Given the description of an element on the screen output the (x, y) to click on. 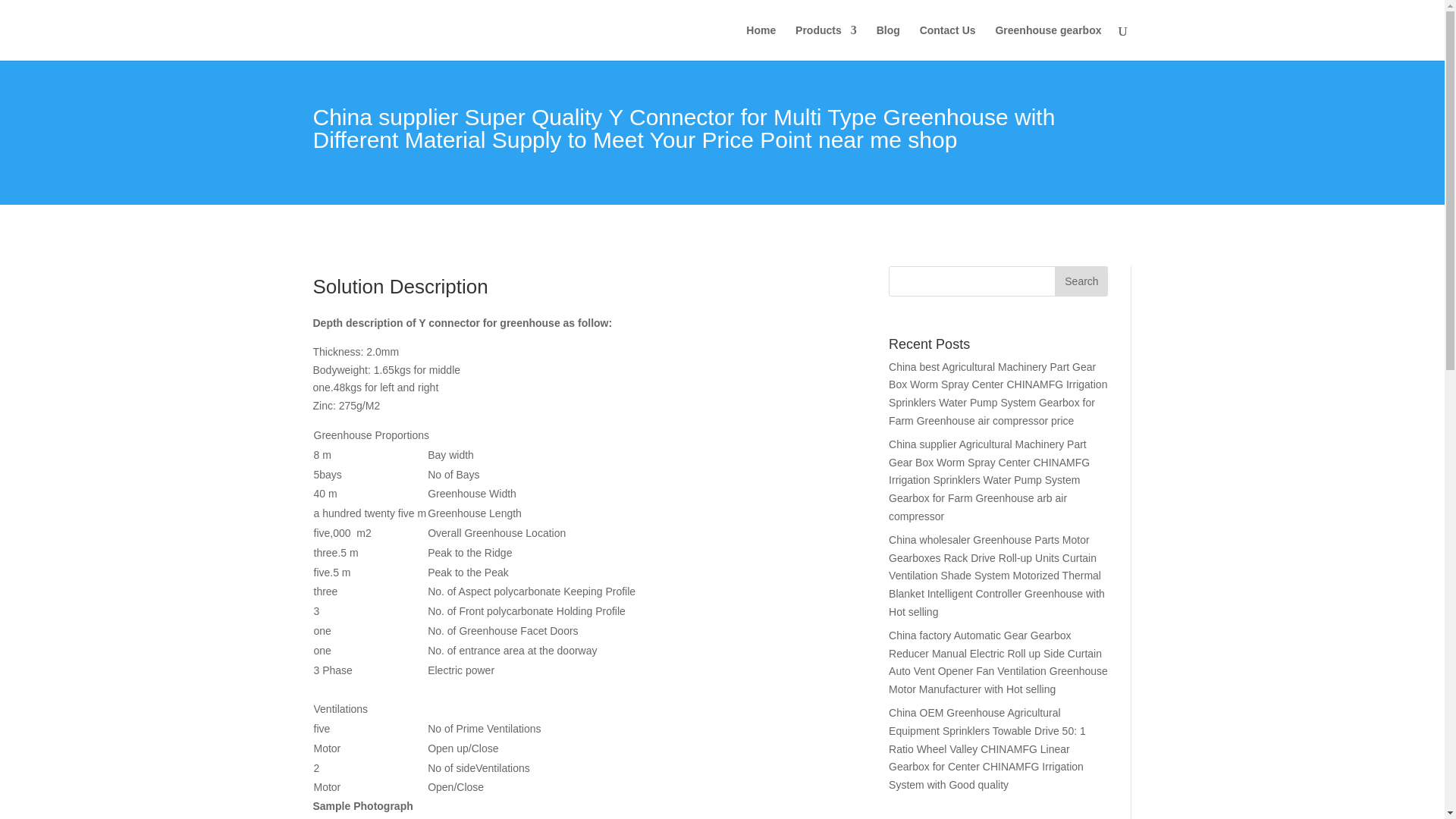
Search (1081, 281)
Search (1081, 281)
Products (825, 42)
Greenhouse gearbox (1047, 42)
Contact Us (947, 42)
